Given the description of an element on the screen output the (x, y) to click on. 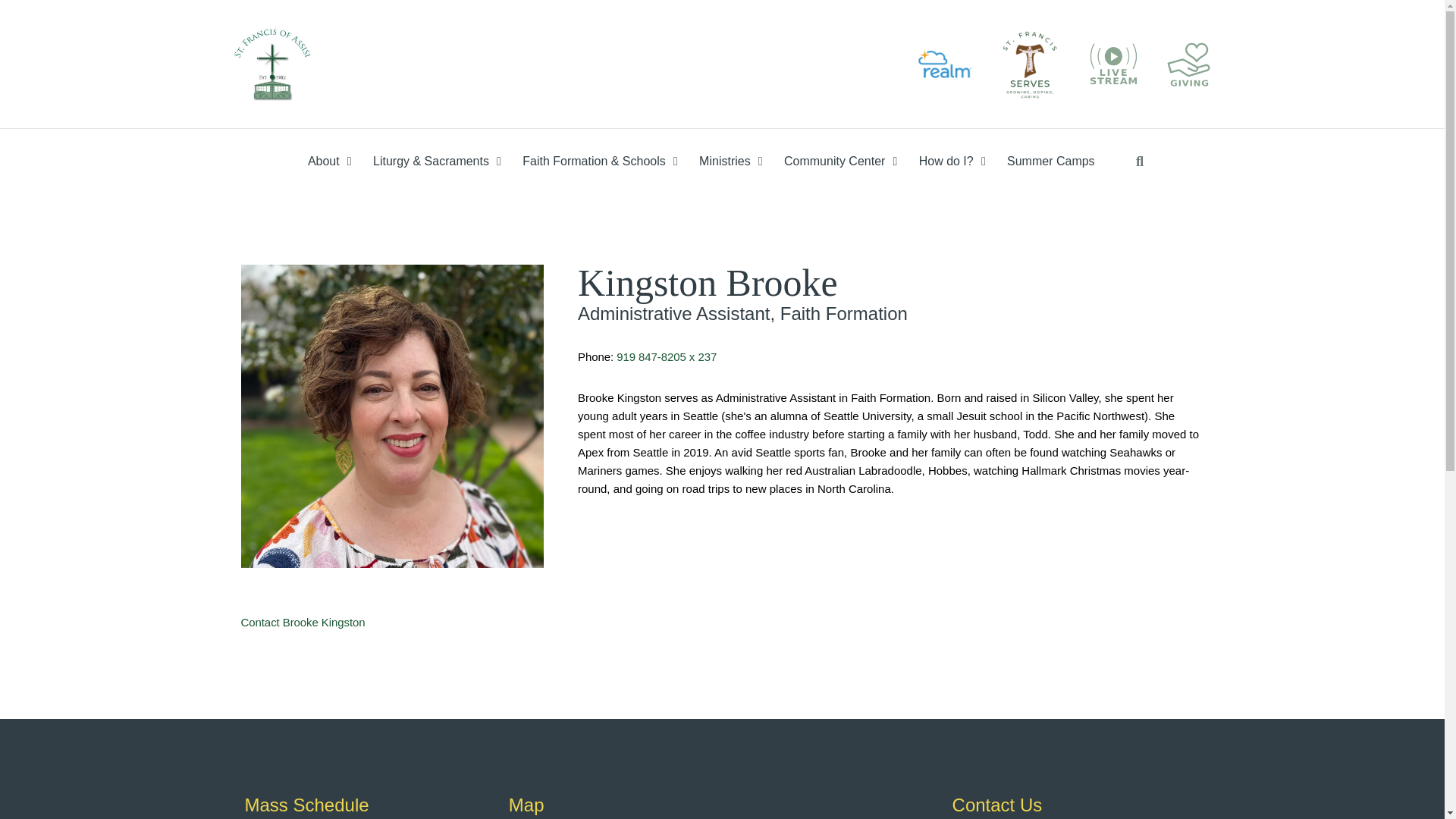
About (325, 161)
